Given the description of an element on the screen output the (x, y) to click on. 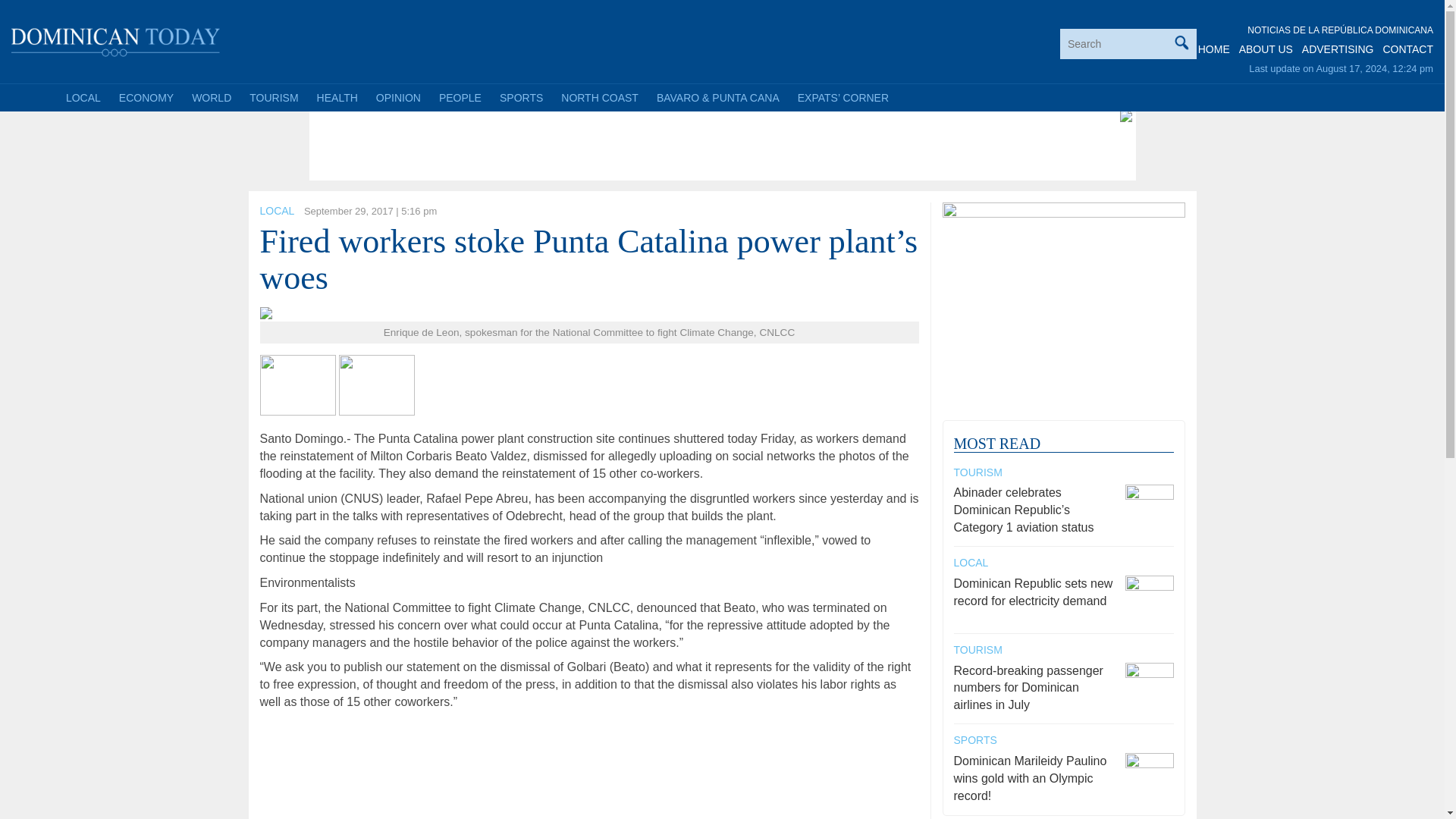
HEALTH (336, 97)
LOCAL (276, 210)
SPORTS (520, 97)
ABOUT US (1265, 49)
WORLD (211, 97)
CONTACT (1406, 49)
HOME (1214, 49)
NORTH COAST (599, 97)
PEOPLE (459, 97)
Advertisement (589, 141)
